Given the description of an element on the screen output the (x, y) to click on. 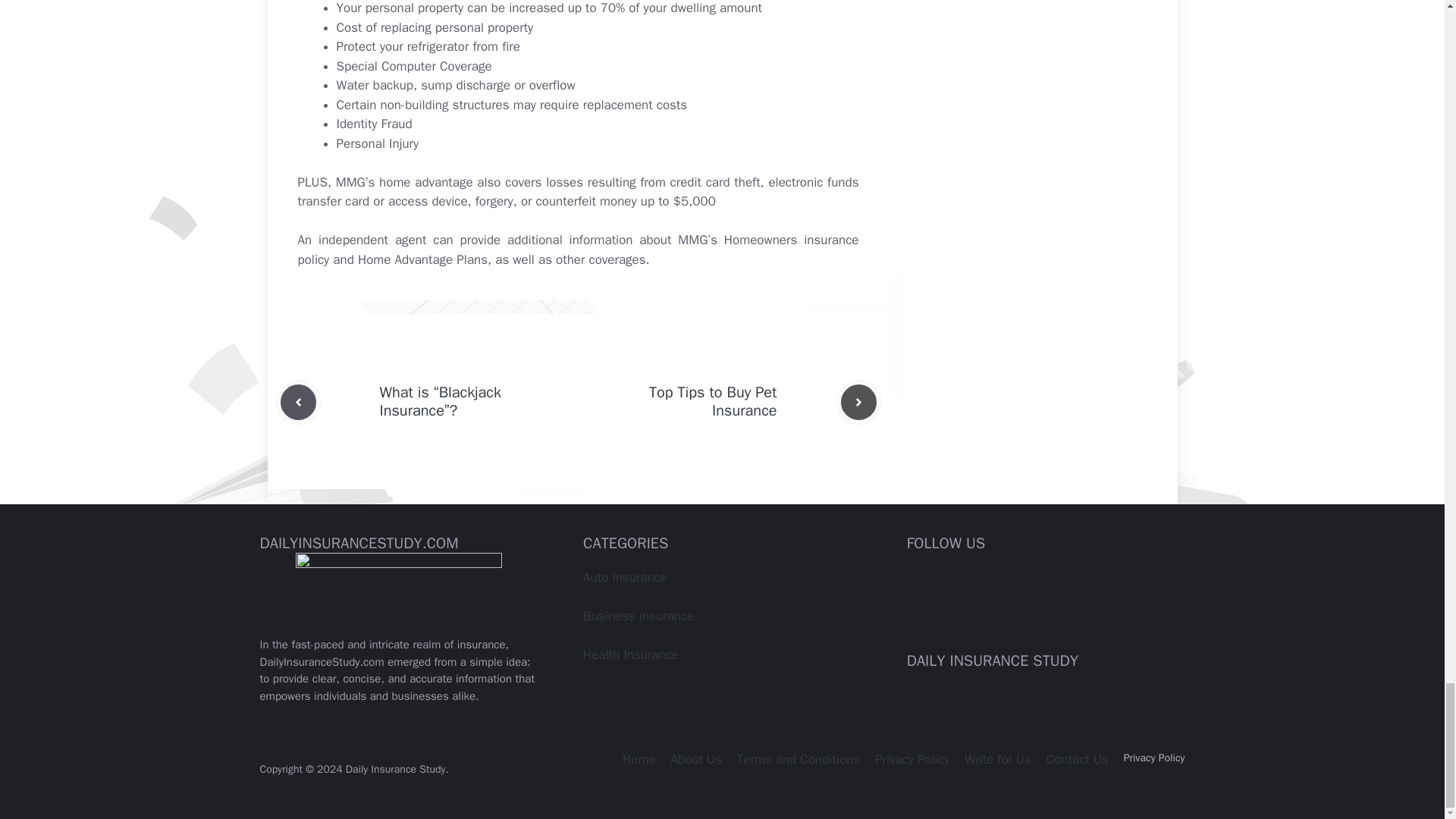
Health Insurance (630, 654)
Terms and Conditions (798, 759)
Home (639, 759)
About Us (696, 759)
Auto Insurance (624, 577)
Privacy Policy (912, 759)
Write for Us (996, 759)
Top Tips to Buy Pet Insurance (713, 401)
insurance policy (578, 249)
Business insurance (638, 616)
